Given the description of an element on the screen output the (x, y) to click on. 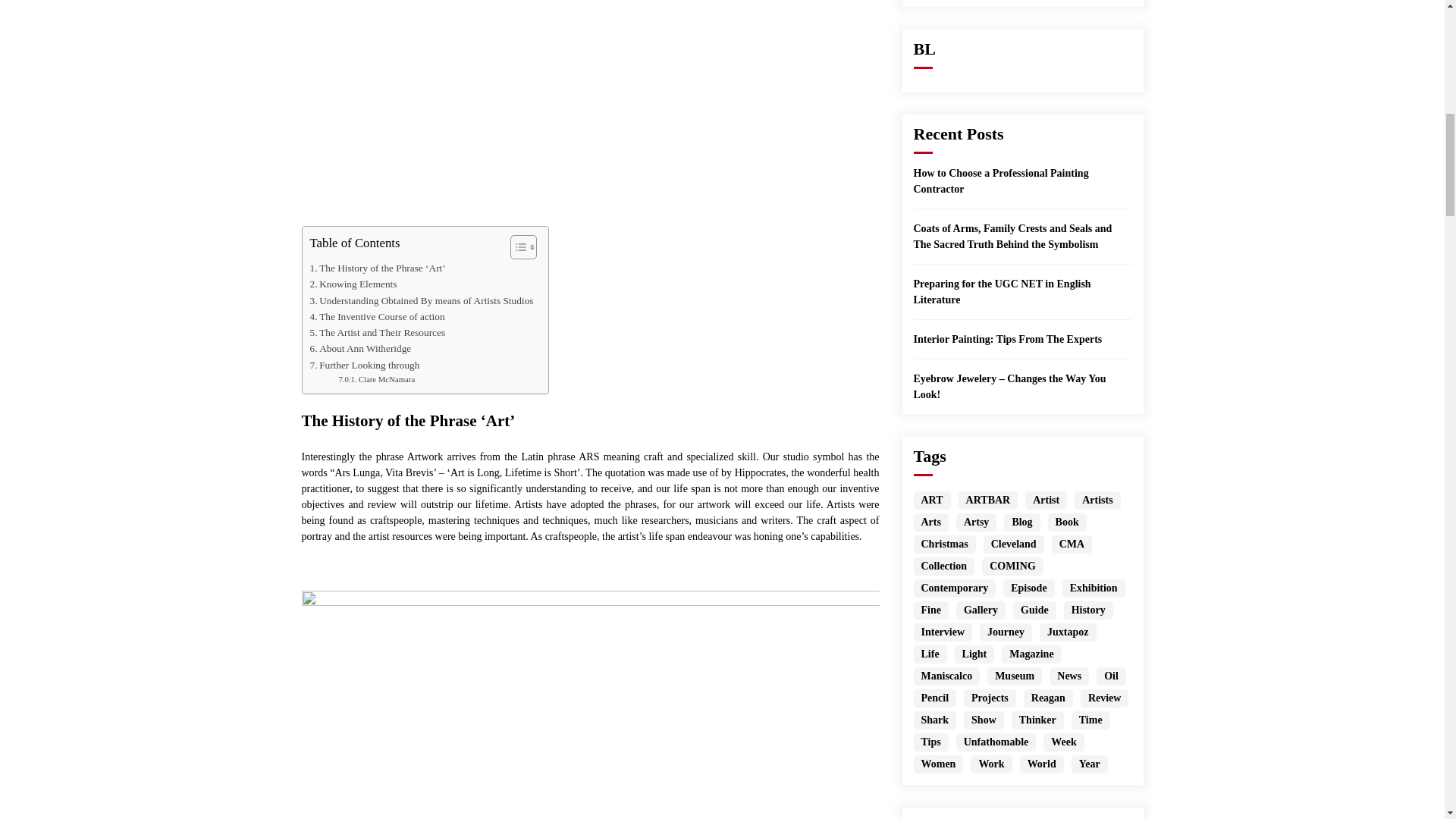
The Inventive Course of action (376, 316)
About Ann Witheridge (359, 348)
Clare McNamara (375, 379)
The Artist and Their Resources (376, 332)
Knowing Elements (352, 283)
Further Looking through (363, 365)
Understanding Obtained By means of Artists Studios (420, 300)
